Given the description of an element on the screen output the (x, y) to click on. 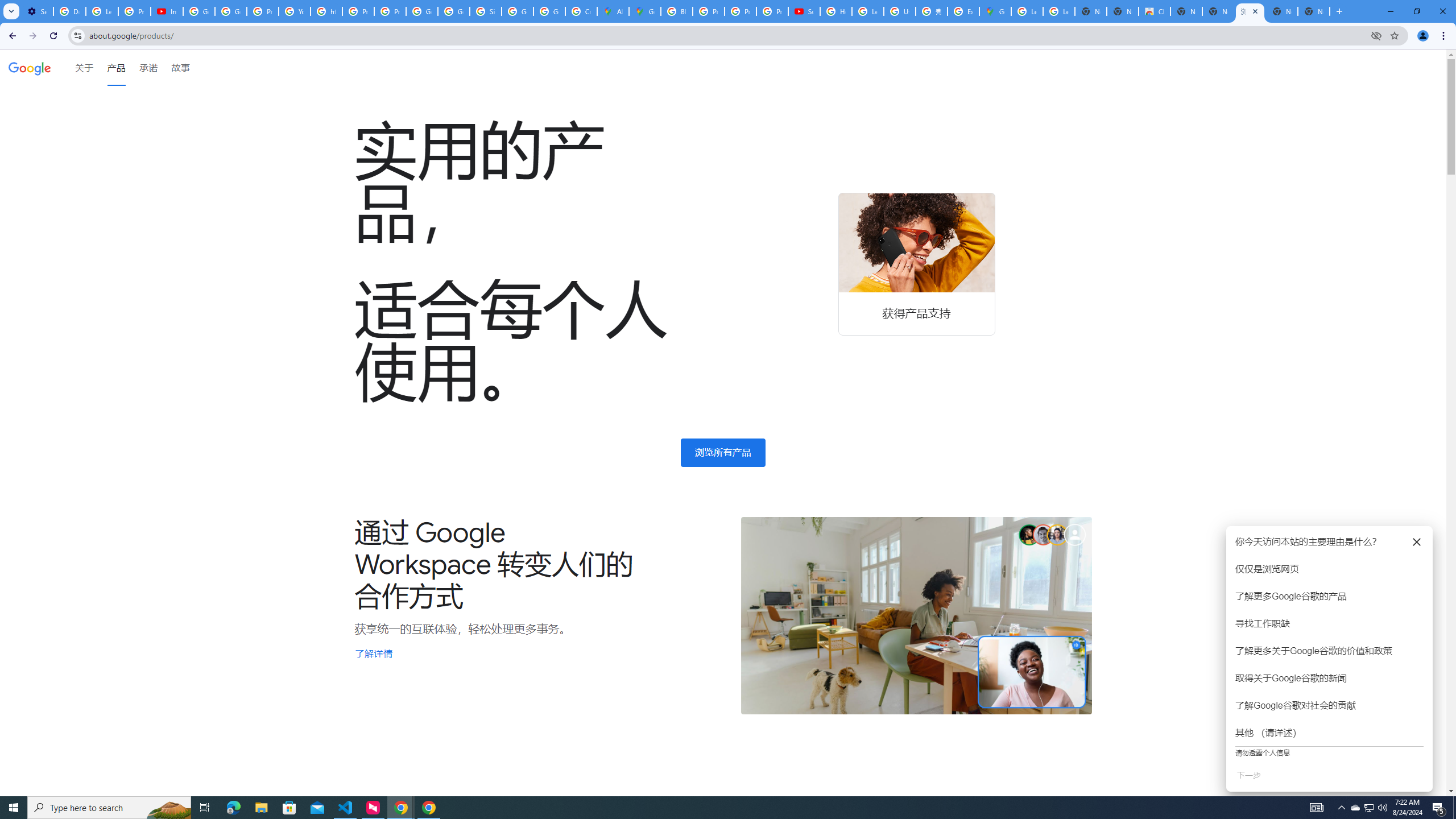
Google Account Help (198, 11)
New Tab (1313, 11)
Delete photos & videos - Computer - Google Photos Help (69, 11)
Subscriptions - YouTube (804, 11)
Learn how to find your photos - Google Photos Help (101, 11)
